Given the description of an element on the screen output the (x, y) to click on. 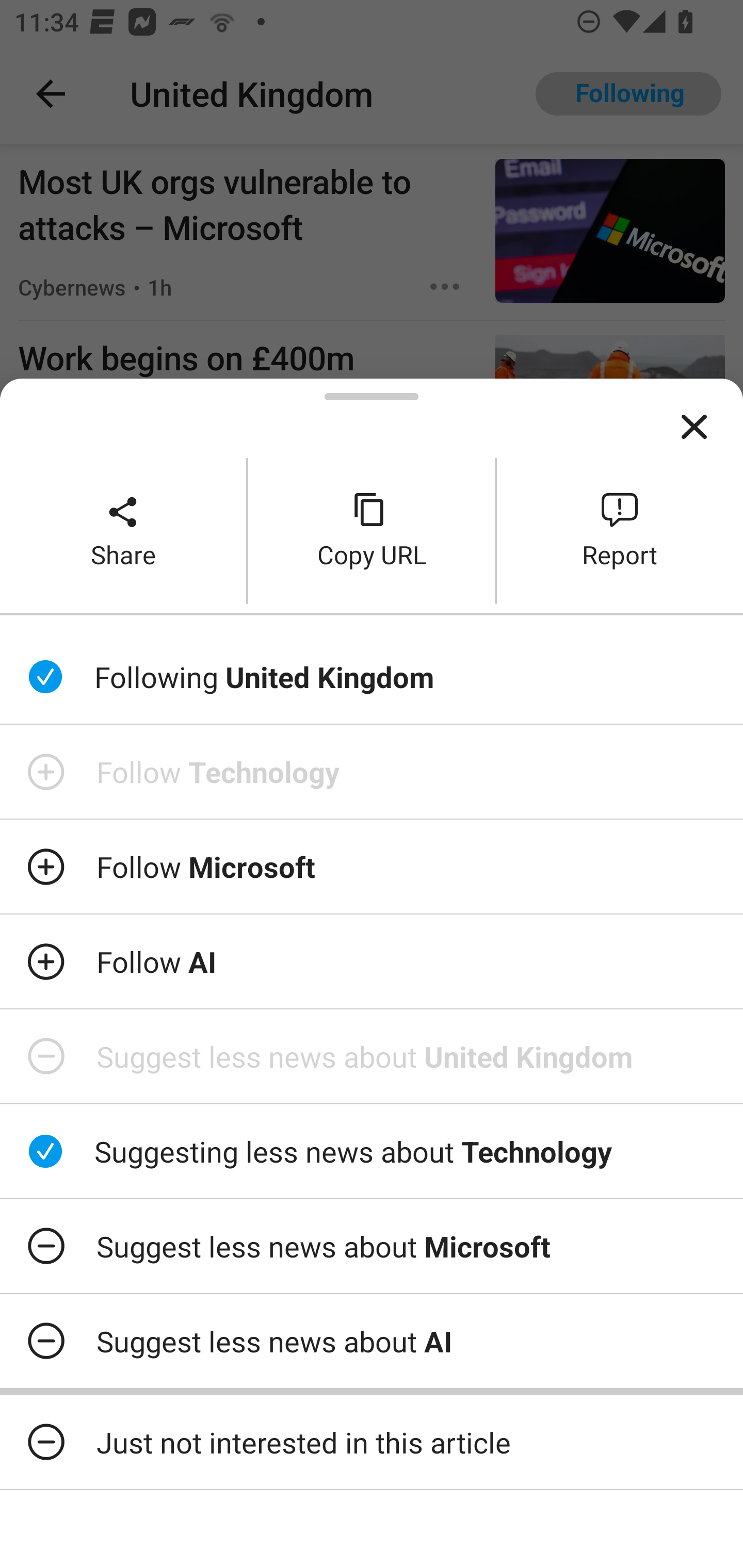
Close (694, 426)
Share (122, 530)
Copy URL (371, 530)
Report (620, 530)
Following United Kingdom (371, 677)
Follow Technology (371, 771)
Follow Microsoft (371, 867)
Follow AI (371, 961)
Suggesting less news about Technology (371, 1150)
Suggest less news about Microsoft (371, 1246)
Suggest less news about AI (371, 1340)
Just not interested in this article (371, 1442)
